Given the description of an element on the screen output the (x, y) to click on. 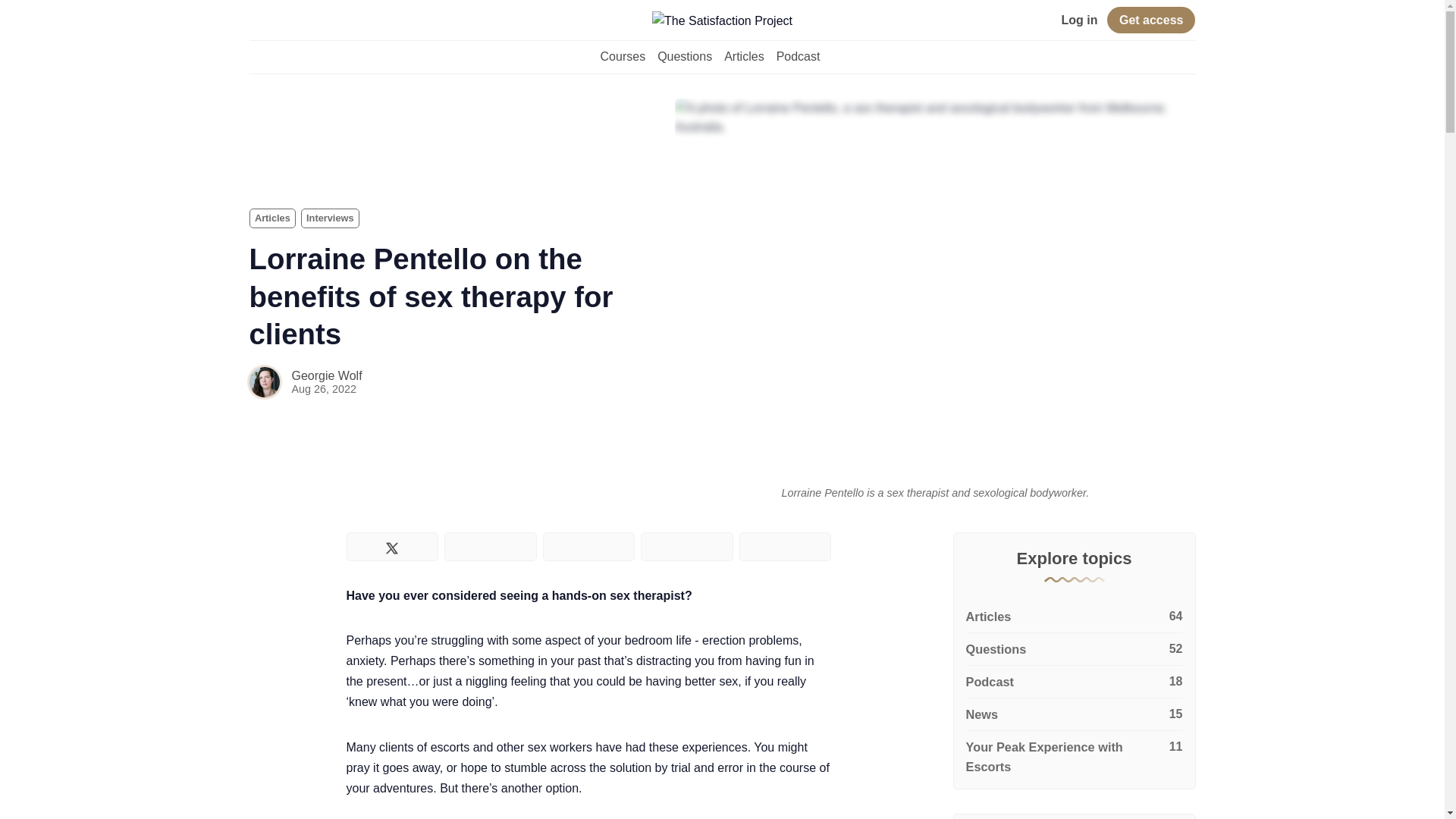
Get access (1150, 19)
Articles (271, 218)
Articles (271, 218)
Share on Twitter (392, 546)
Podcast (1074, 681)
Copy to clipboard (785, 546)
Share on Facebook (490, 546)
Georgie Wolf (326, 375)
Articles (742, 56)
Interviews (330, 218)
News (1074, 714)
Questions (684, 56)
Search (255, 20)
Log in (1079, 19)
Questions (1074, 649)
